Given the description of an element on the screen output the (x, y) to click on. 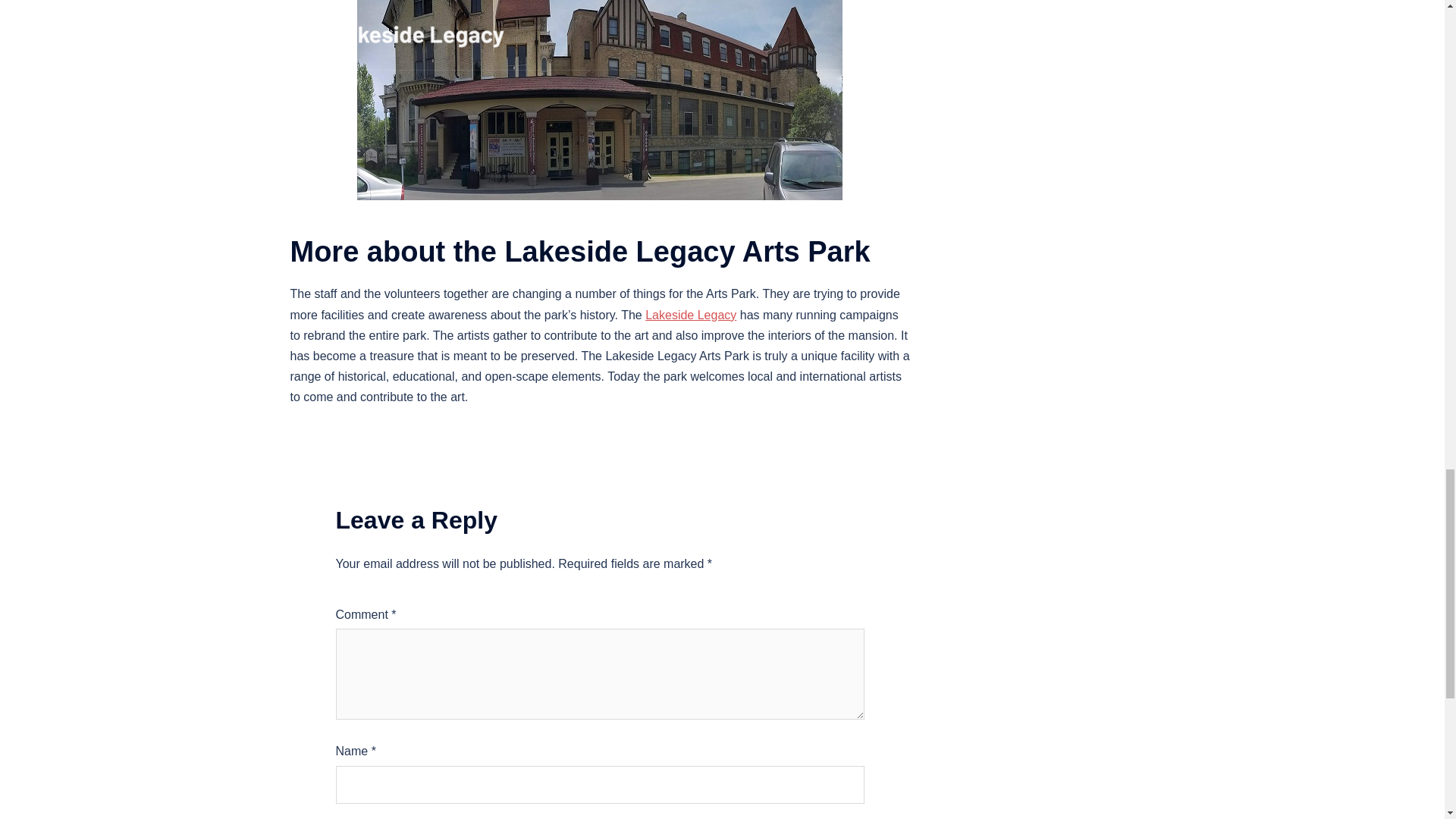
Lakeside Legacy (690, 314)
